Given the description of an element on the screen output the (x, y) to click on. 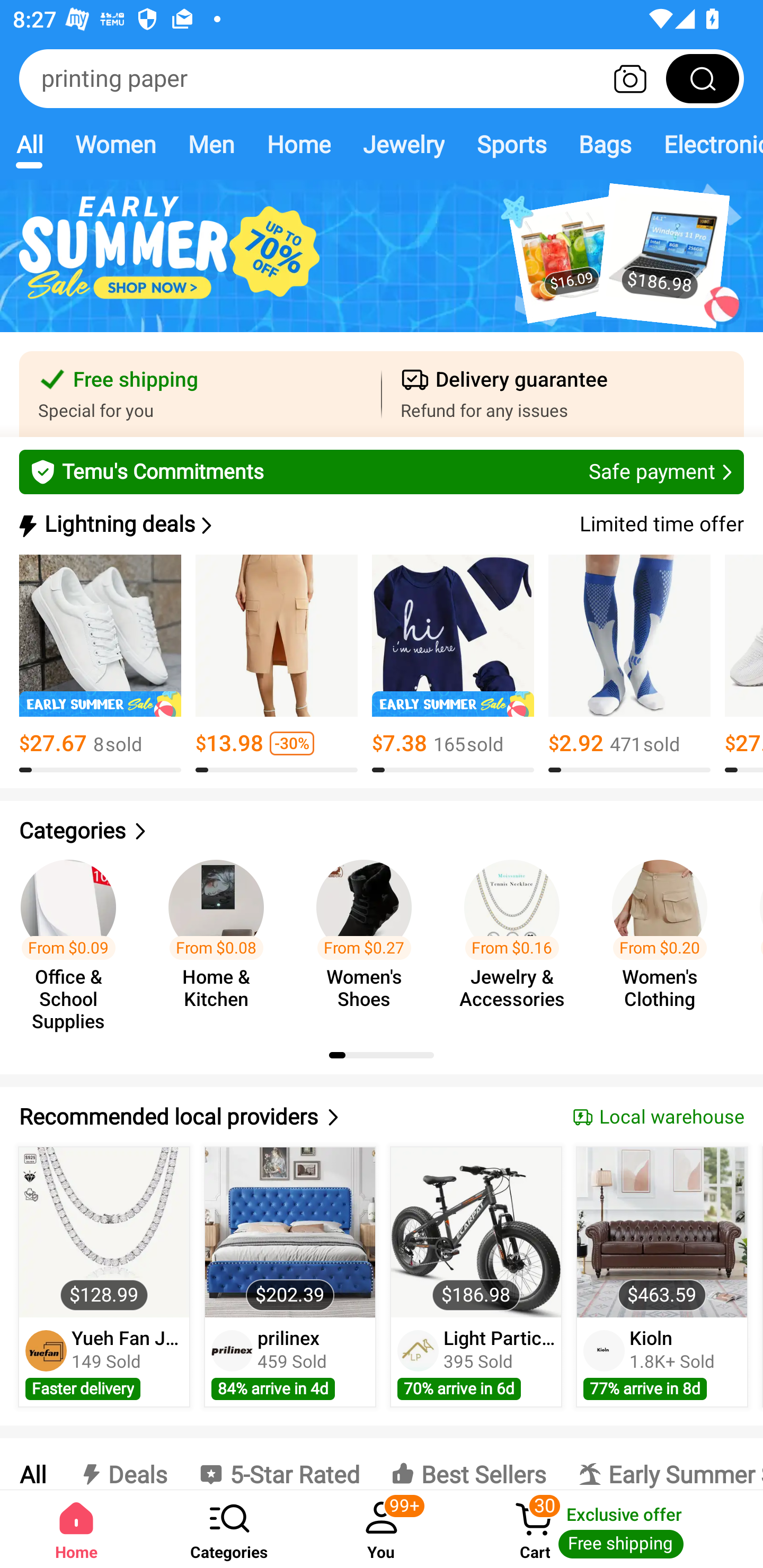
printing paper (381, 78)
All (29, 144)
Women (115, 144)
Men (211, 144)
Home (298, 144)
Jewelry (403, 144)
Sports (511, 144)
Bags (605, 144)
Electronics (705, 144)
$16.09 $186.98 (381, 265)
Free shipping Special for you (200, 394)
Delivery guarantee Refund for any issues (562, 394)
Temu's Commitments (381, 471)
Lightning deals Lightning deals Limited time offer (379, 524)
$27.67 8￼sold 8.0 (100, 664)
$13.98 -30% 8.0 (276, 664)
$7.38 165￼sold 8.0 (453, 664)
$2.92 471￼sold 8.0 (629, 664)
Categories (381, 830)
From $0.09 Office & School Supplies (74, 936)
From $0.08 Home & Kitchen (222, 936)
From $0.27 Women's Shoes (369, 936)
From $0.16 Jewelry & Accessories (517, 936)
From $0.20 Women's Clothing (665, 936)
$202.39 prilinex 459 Sold 84% arrive in 4d (289, 1276)
$186.98 Light Particle 395 Sold 70% arrive in 6d (475, 1276)
$463.59 Kioln 1.8K+ Sold 77% arrive in 8d (661, 1276)
$128.99 (104, 1232)
$202.39 (290, 1232)
$186.98 (475, 1232)
$463.59 (661, 1232)
All (32, 1463)
Deals Deals Deals (122, 1463)
5-Star Rated 5-Star Rated 5-Star Rated (279, 1463)
Best Sellers Best Sellers Best Sellers (468, 1463)
Home (76, 1528)
Categories (228, 1528)
You ‎99+‎ You (381, 1528)
Cart 30 Cart Exclusive offer (610, 1528)
